Given the description of an element on the screen output the (x, y) to click on. 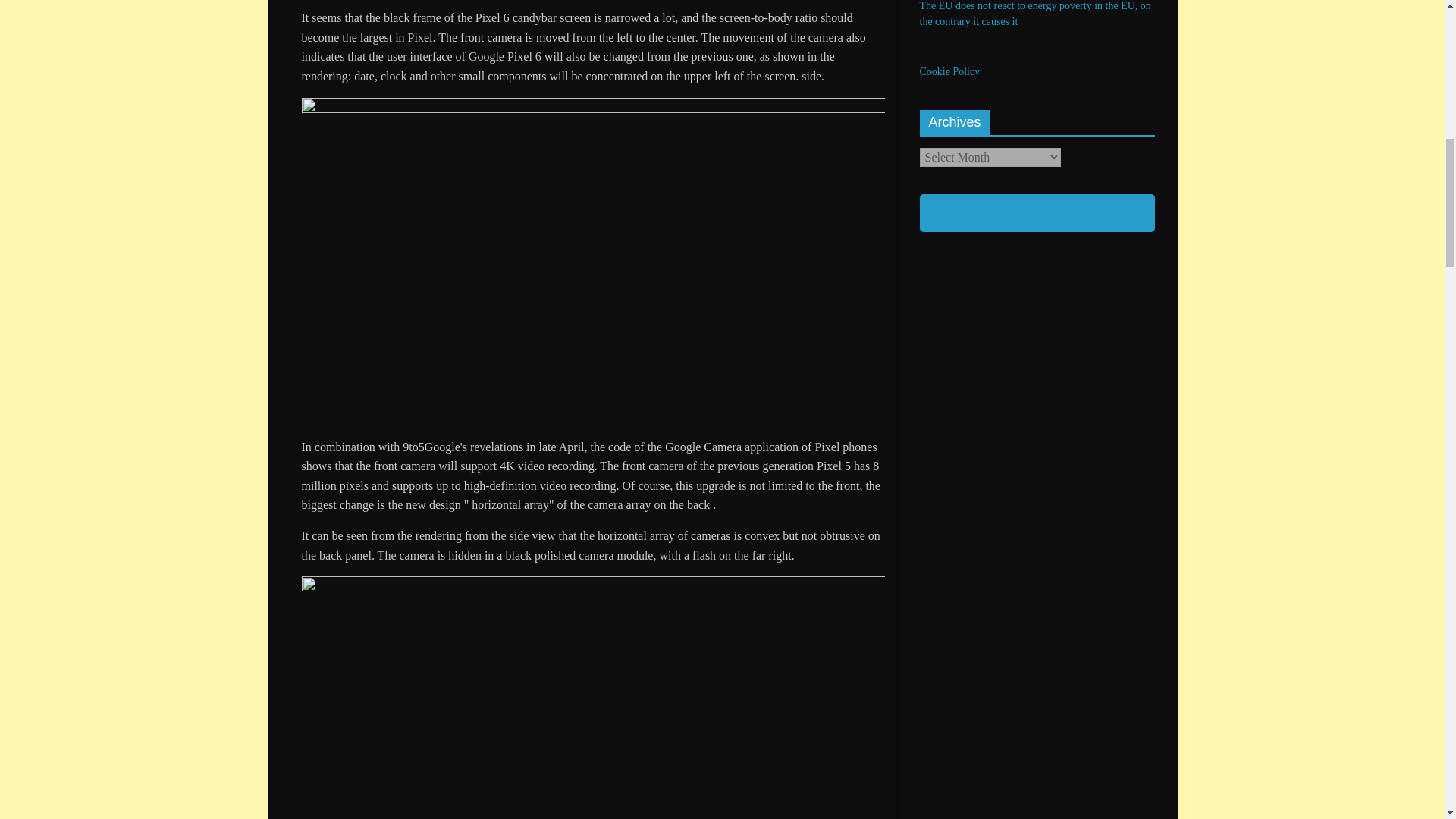
Cookie Policy (948, 71)
